Given the description of an element on the screen output the (x, y) to click on. 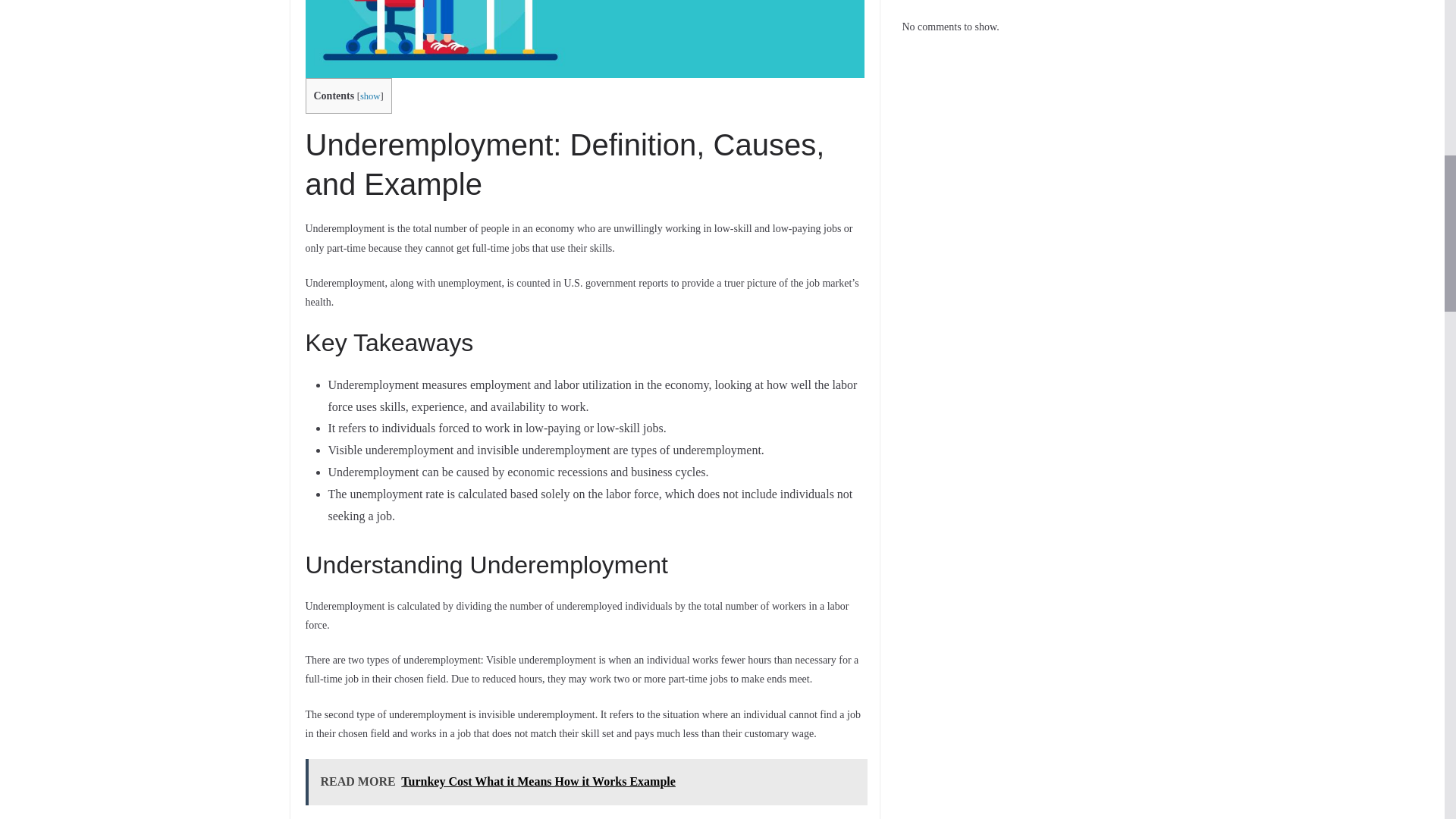
show (369, 95)
READ MORE  Turnkey Cost What it Means How it Works Example (585, 782)
